Given the description of an element on the screen output the (x, y) to click on. 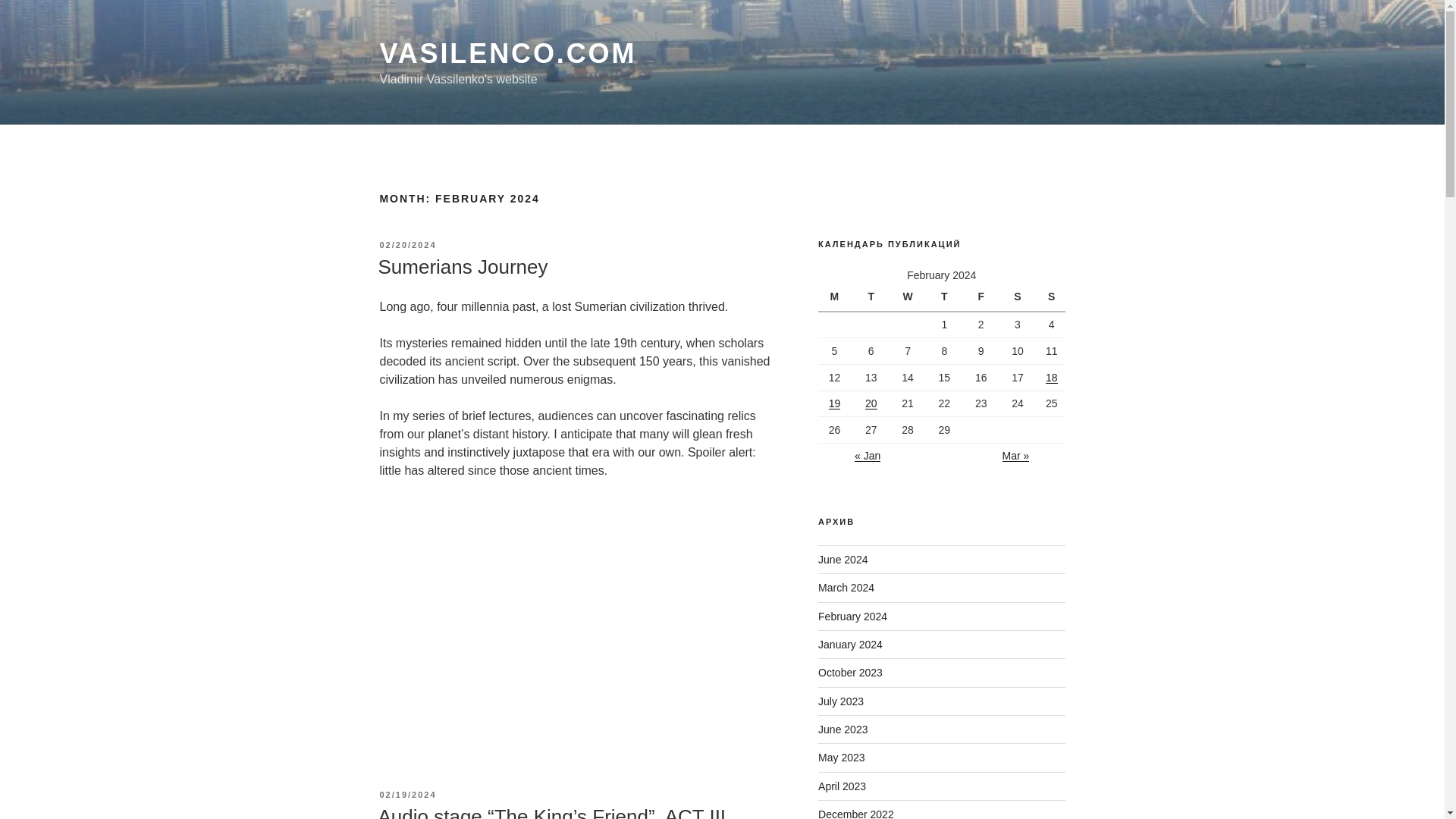
Wednesday (909, 298)
Sunday (1051, 298)
October 2023 (850, 672)
Thursday (945, 298)
January 2024 (850, 644)
Friday (982, 298)
February 2024 (852, 615)
VASILENCO.COM (507, 52)
June 2023 (842, 729)
December 2022 (855, 813)
18 (1051, 377)
May 2023 (841, 757)
20 (870, 403)
Sumerians Journey (462, 266)
Sumerians Journey (577, 609)
